Given the description of an element on the screen output the (x, y) to click on. 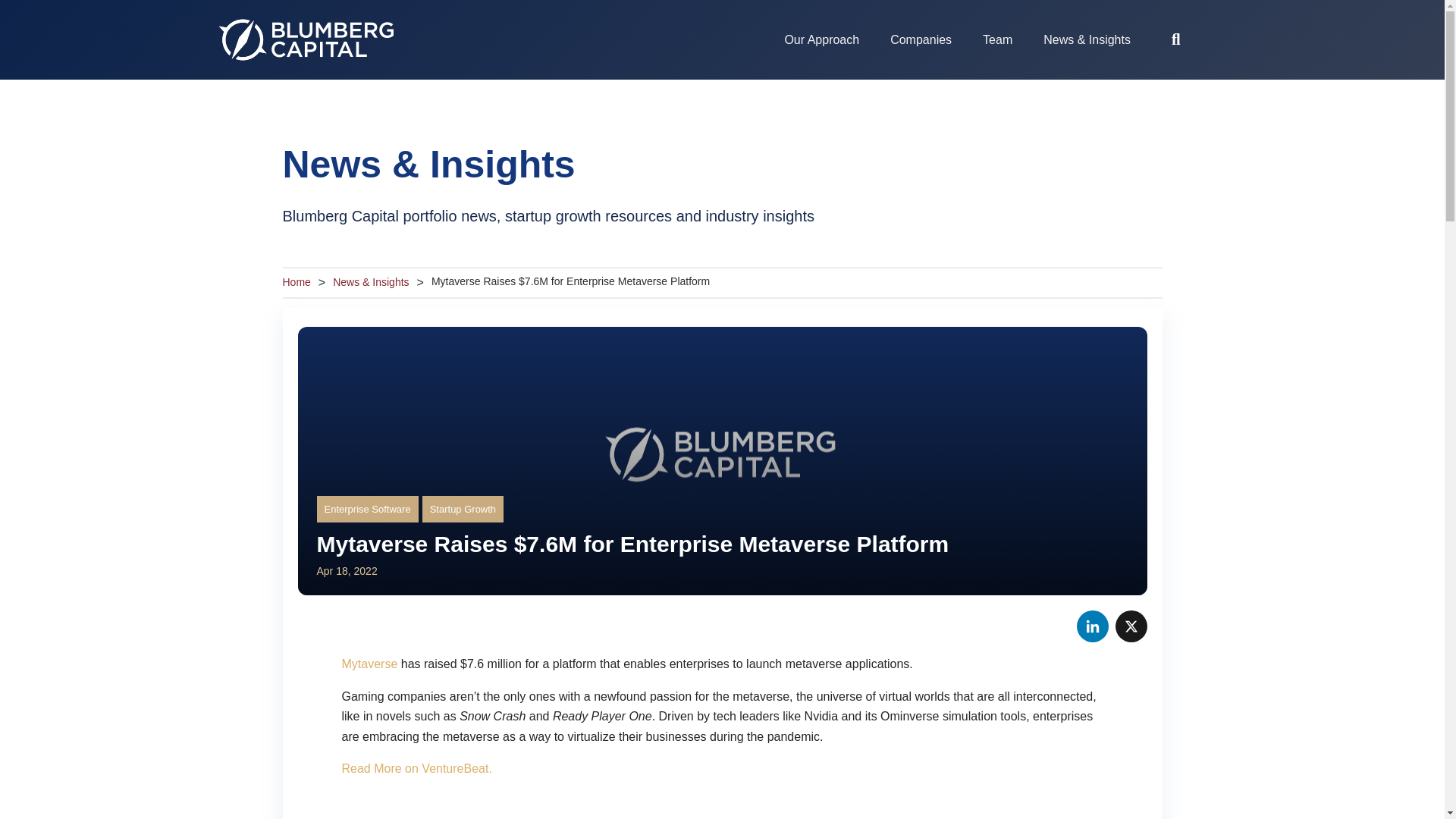
Startup Growth (462, 509)
Our Approach (821, 39)
SEARCH (1179, 39)
X (1127, 632)
LinkedIn (1088, 632)
Read More on VentureBeat. (416, 768)
Companies (920, 39)
X (1127, 632)
LinkedIn (1088, 632)
Enterprise Software (368, 509)
Team (997, 39)
Home (296, 282)
Mytaverse (368, 663)
